Given the description of an element on the screen output the (x, y) to click on. 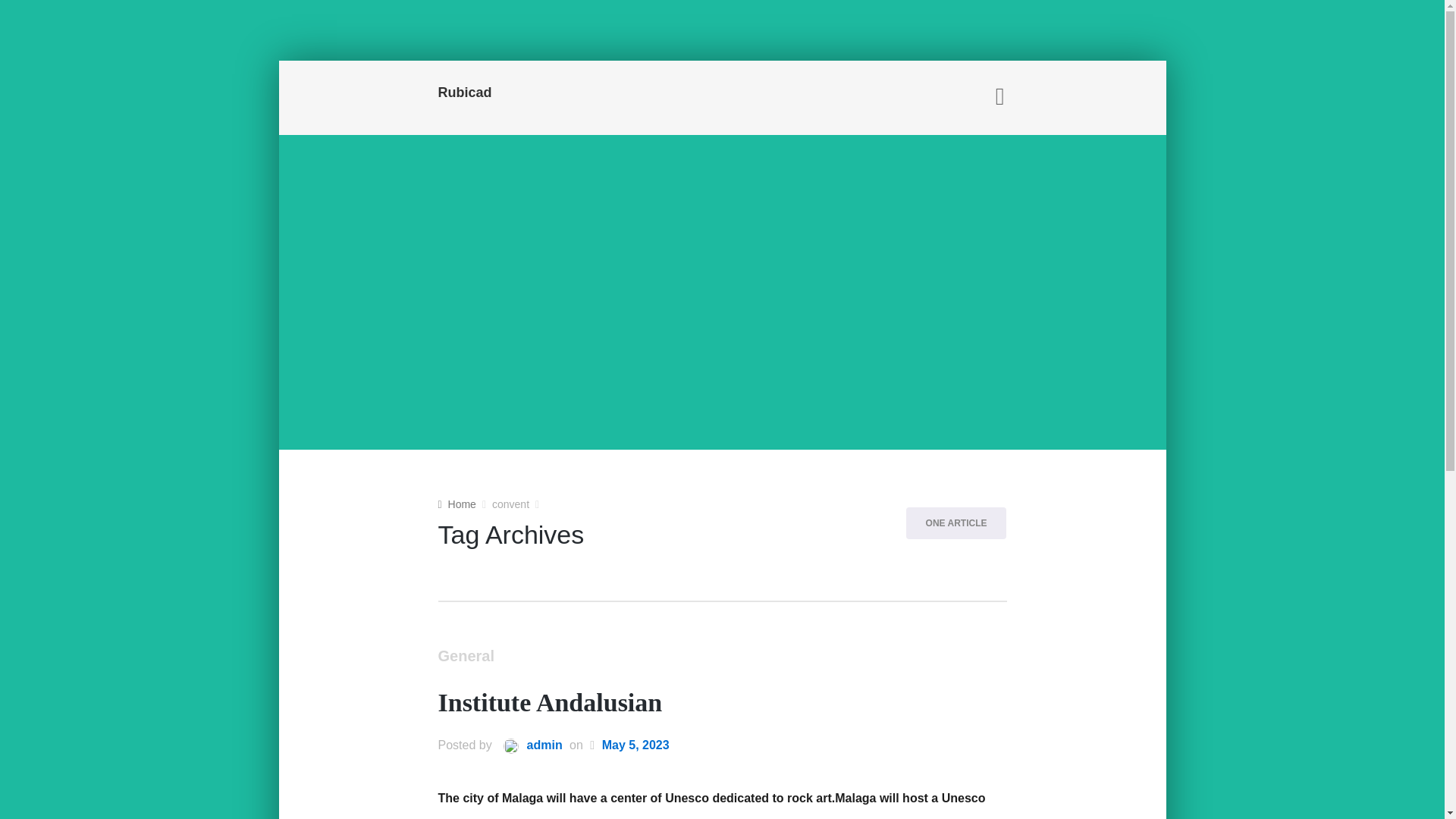
go home (457, 503)
May 5, 2023 (635, 745)
General (466, 657)
admin (528, 745)
See articles from category - General (466, 657)
Rubicad -  (526, 93)
Home (457, 503)
posted on May 5, 2023 (635, 745)
Institute Andalusian (550, 703)
Posted by admin (528, 745)
